Given the description of an element on the screen output the (x, y) to click on. 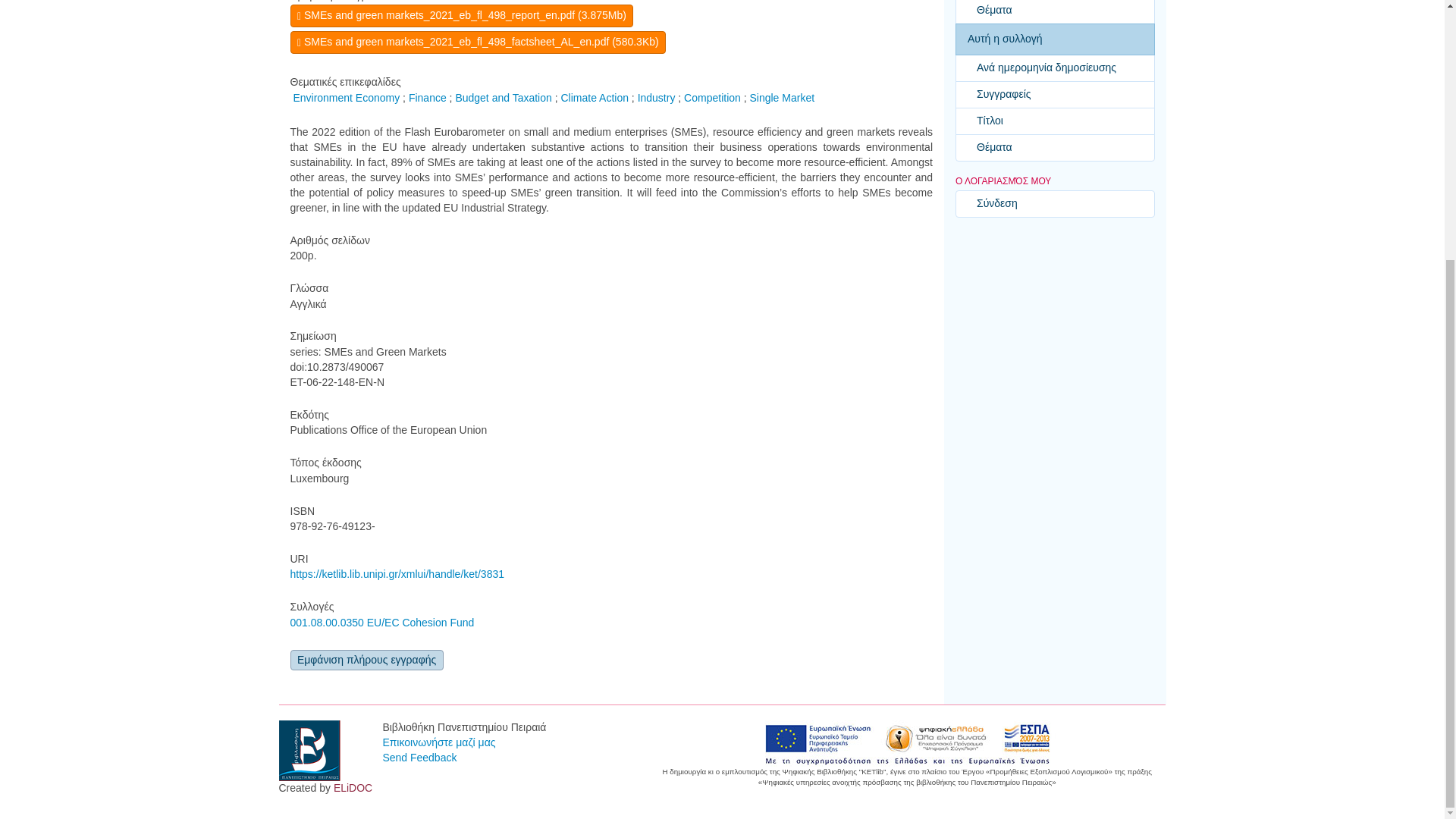
Single Market (781, 97)
Climate Action (593, 97)
Competition (712, 97)
Industry (656, 97)
Finance (427, 97)
Environment Economy (345, 97)
Budget and Taxation (502, 97)
